Given the description of an element on the screen output the (x, y) to click on. 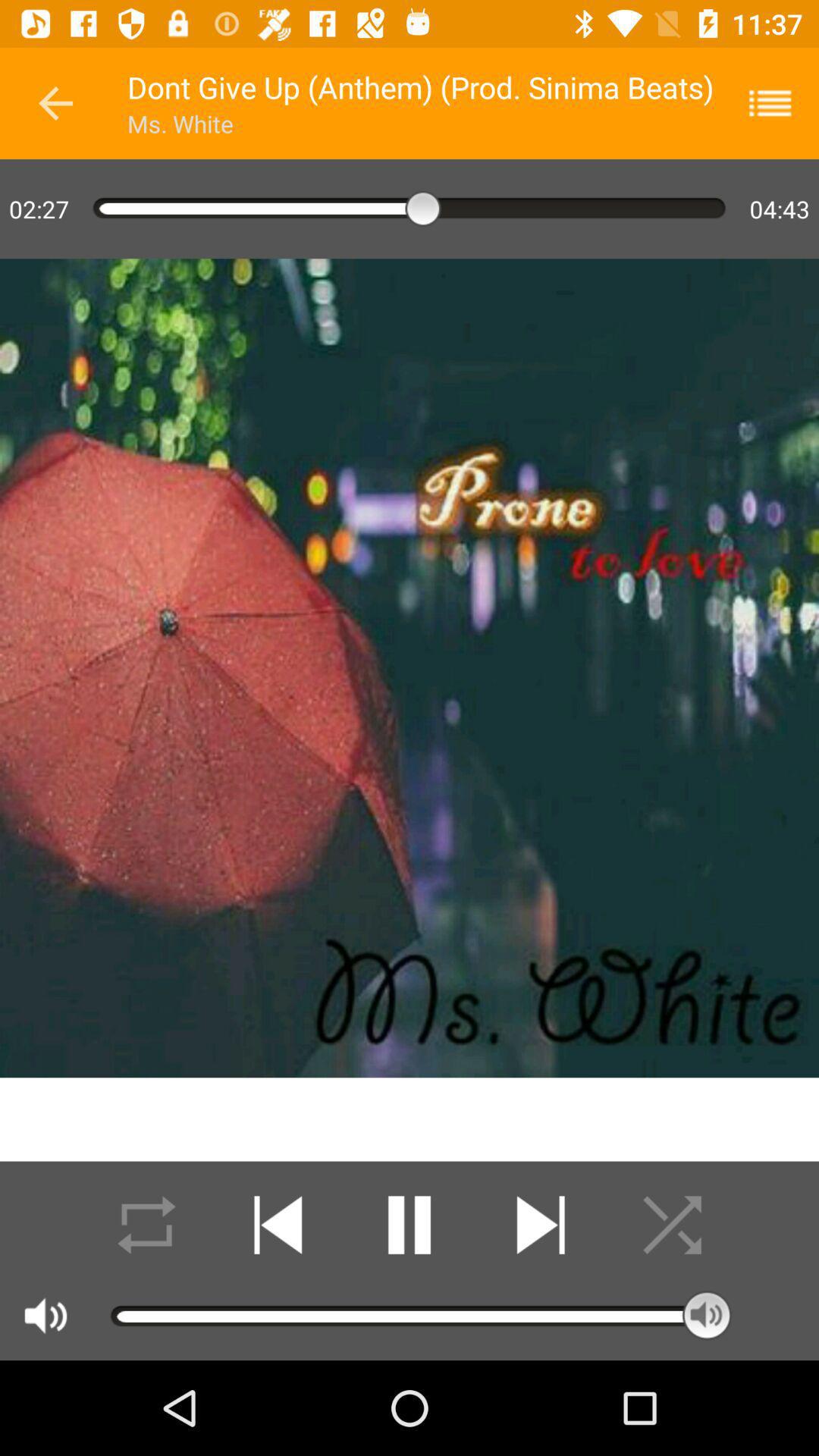
view menu (779, 103)
